Given the description of an element on the screen output the (x, y) to click on. 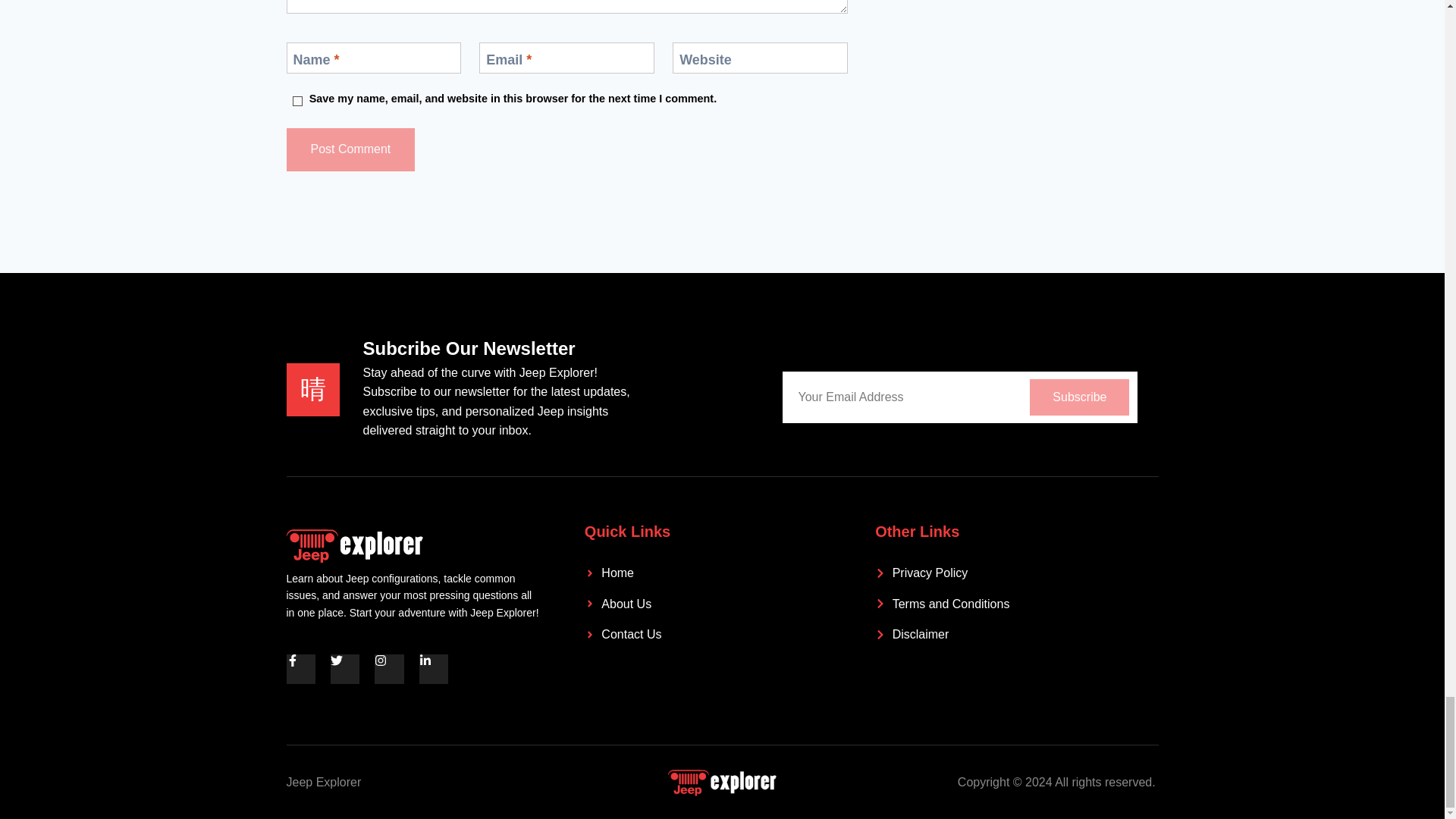
Post Comment (350, 149)
Post Comment (350, 149)
